Given the description of an element on the screen output the (x, y) to click on. 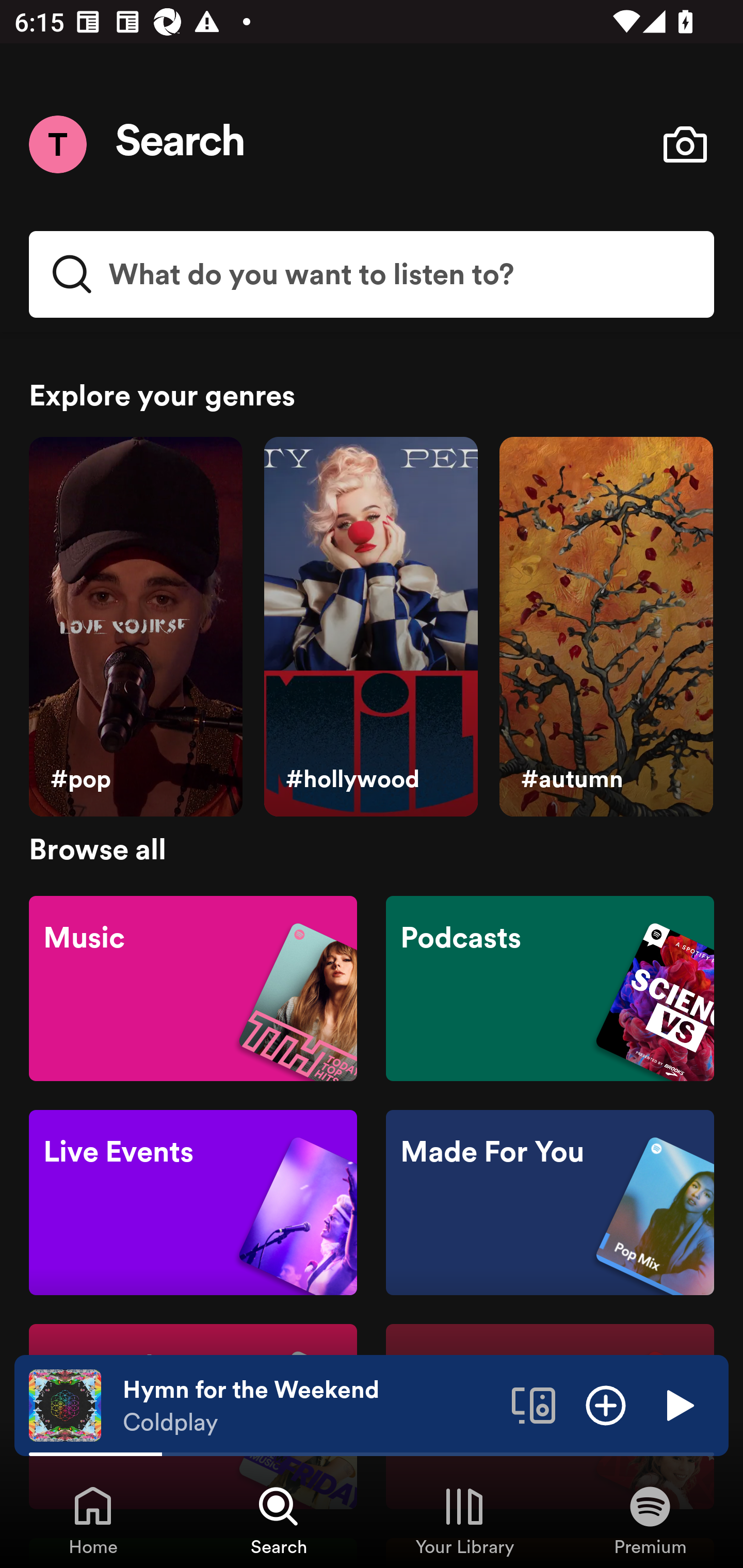
Menu (57, 144)
Open camera (685, 145)
Search (180, 144)
#pop (135, 626)
#hollywood (370, 626)
#autumn (606, 626)
Music (192, 987)
Podcasts (549, 987)
Live Events (192, 1202)
Made For You (549, 1202)
Hymn for the Weekend Coldplay (309, 1405)
The cover art of the currently playing track (64, 1404)
Connect to a device. Opens the devices menu (533, 1404)
Add item (605, 1404)
Play (677, 1404)
Home, Tab 1 of 4 Home Home (92, 1519)
Search, Tab 2 of 4 Search Search (278, 1519)
Your Library, Tab 3 of 4 Your Library Your Library (464, 1519)
Premium, Tab 4 of 4 Premium Premium (650, 1519)
